Given the description of an element on the screen output the (x, y) to click on. 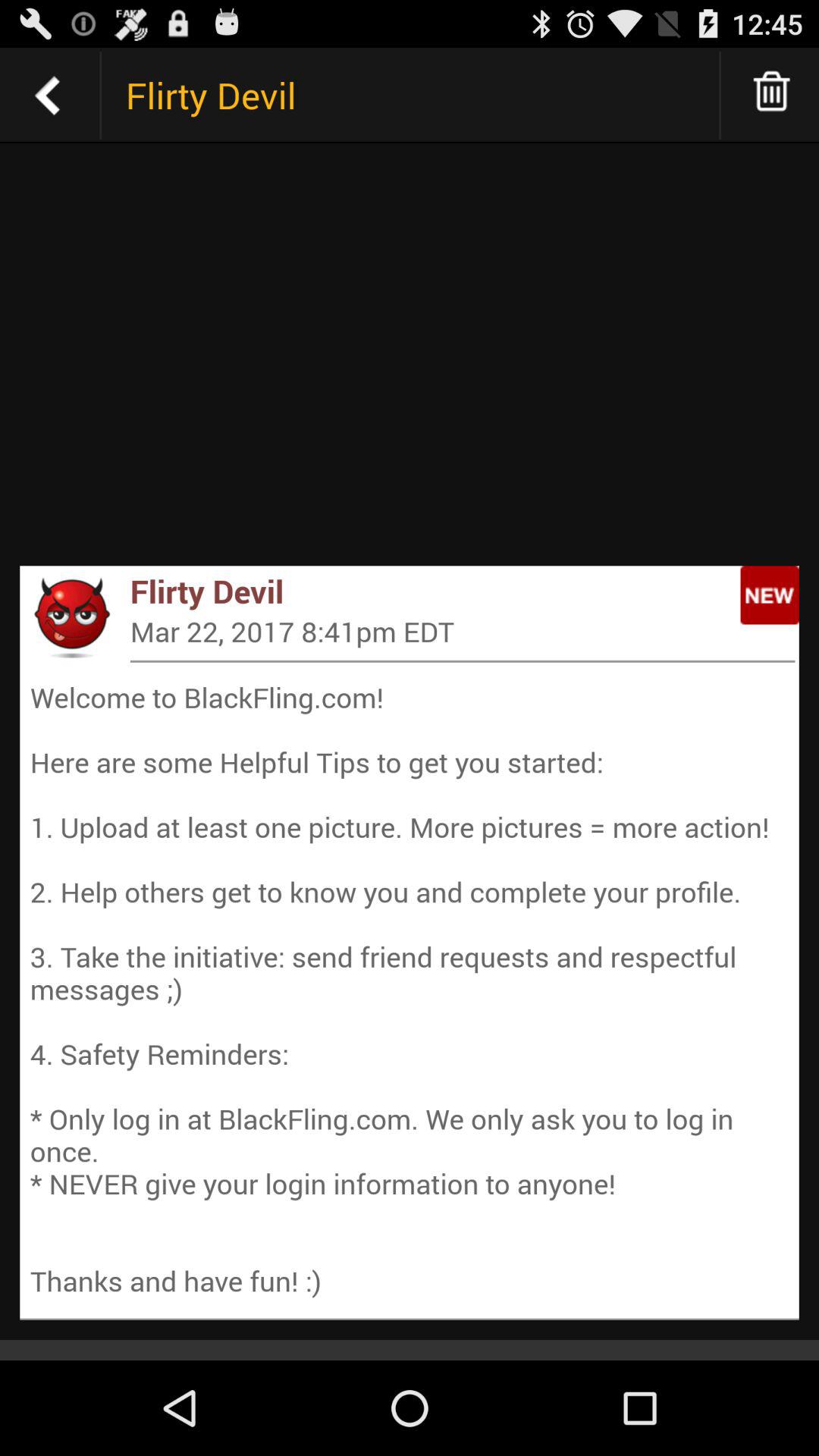
choose app next to flirty devil icon (71, 617)
